Given the description of an element on the screen output the (x, y) to click on. 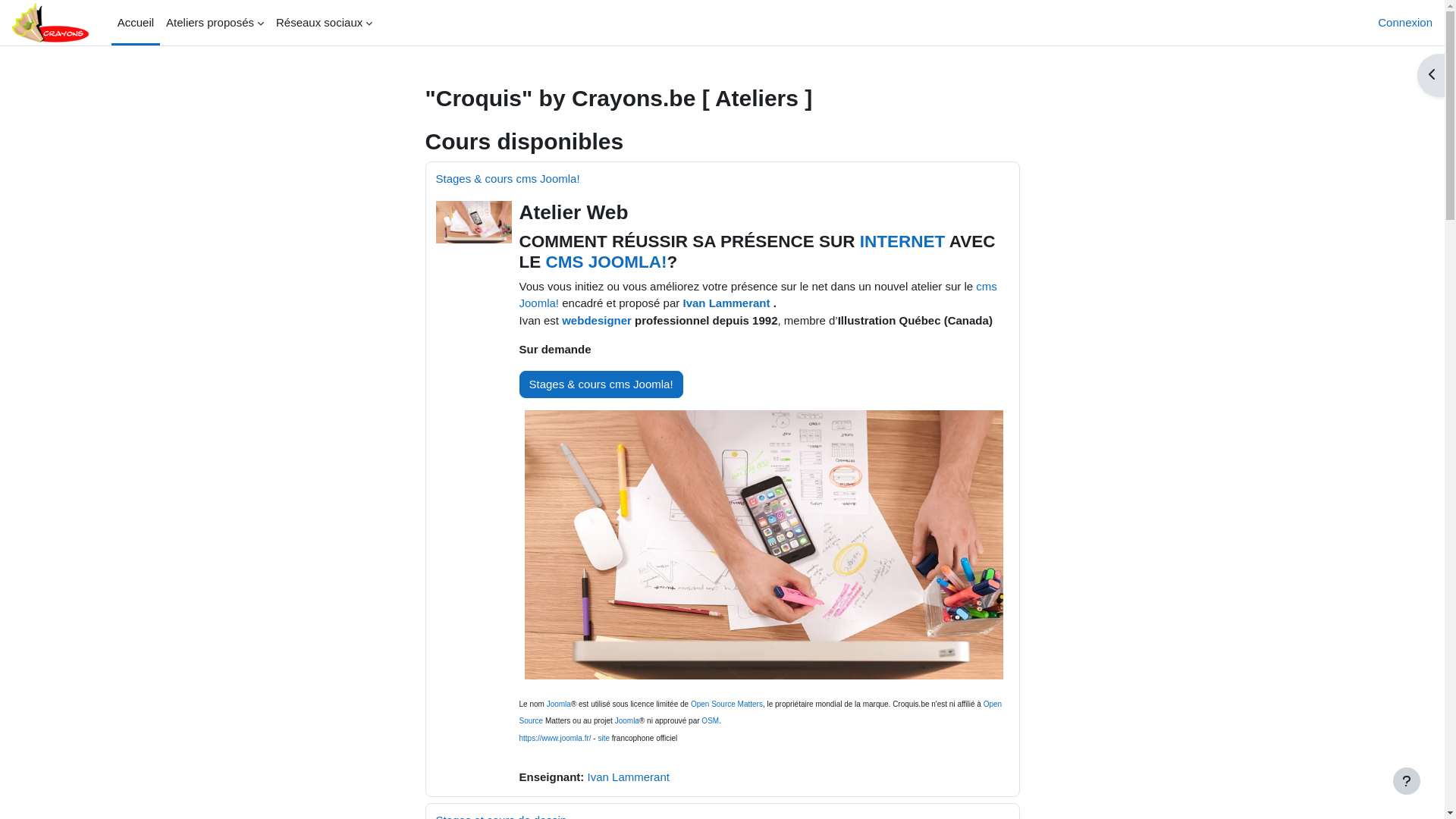
Open Source Element type: text (759, 712)
Stages & cours cms Joomla! Element type: text (600, 384)
Stages & cours cms Joomla! Element type: text (600, 382)
Accueil Element type: text (135, 22)
Joomla Element type: text (627, 720)
Ivan Lammerant Element type: text (725, 302)
https://www.joomla.fr/ Element type: text (554, 738)
INTERNET Element type: text (902, 241)
Ivan Lammerant Element type: text (628, 776)
Connexion Element type: text (1404, 22)
Joomla Element type: text (558, 703)
webdesigner Element type: text (596, 319)
Stages & cours cms Joomla! Element type: text (507, 178)
cms Joomla! Element type: text (757, 294)
Open Source Matters Element type: text (726, 703)
OSM Element type: text (709, 720)
Ouvrir le tiroir des blocs Element type: text (1430, 75)
CMS JOOMLA! Element type: text (606, 260)
site Element type: text (603, 738)
